Given the description of an element on the screen output the (x, y) to click on. 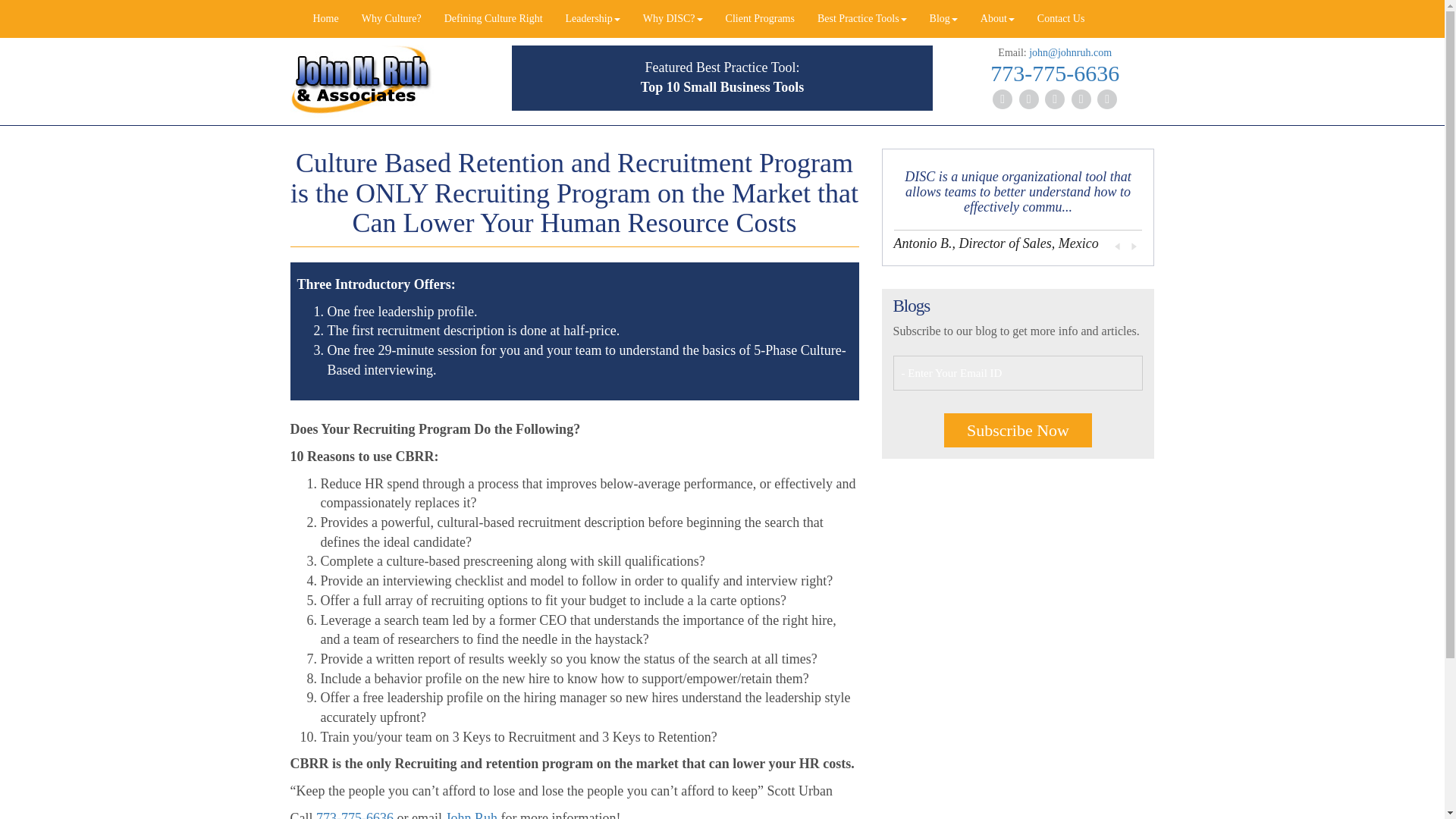
Defining Culture Right (493, 18)
Blog (943, 18)
Client Programs (760, 18)
Our Consulting Programs (760, 18)
About Us (997, 18)
Our Blog (943, 18)
Why Culture? (391, 18)
Contact Us (1061, 18)
Subscribe Now (1017, 430)
Best Practice Tools (862, 18)
Why DISC? (672, 18)
Leadership (592, 18)
Home (325, 18)
